Given the description of an element on the screen output the (x, y) to click on. 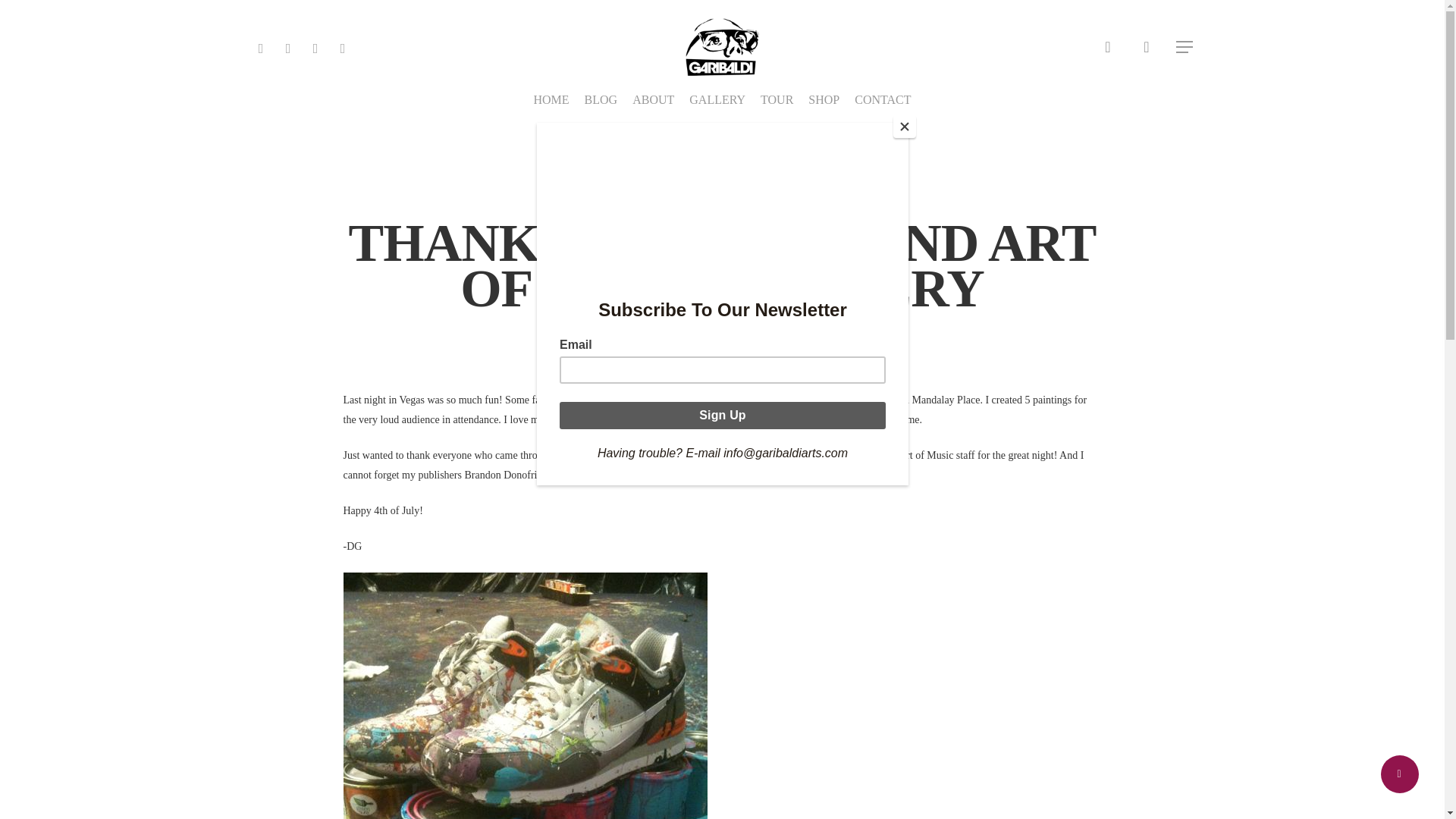
BLOG (601, 100)
Photos (799, 190)
search (1107, 47)
TWITTER (261, 46)
HOME (550, 100)
TOUR (776, 100)
YOUTUBE (315, 46)
SHOP (824, 100)
twitter (642, 671)
GALLERY (716, 100)
FACEBOOK (288, 46)
CONTACT (882, 100)
Menu (1184, 47)
Events (735, 190)
INSTAGRAM (342, 46)
